Given the description of an element on the screen output the (x, y) to click on. 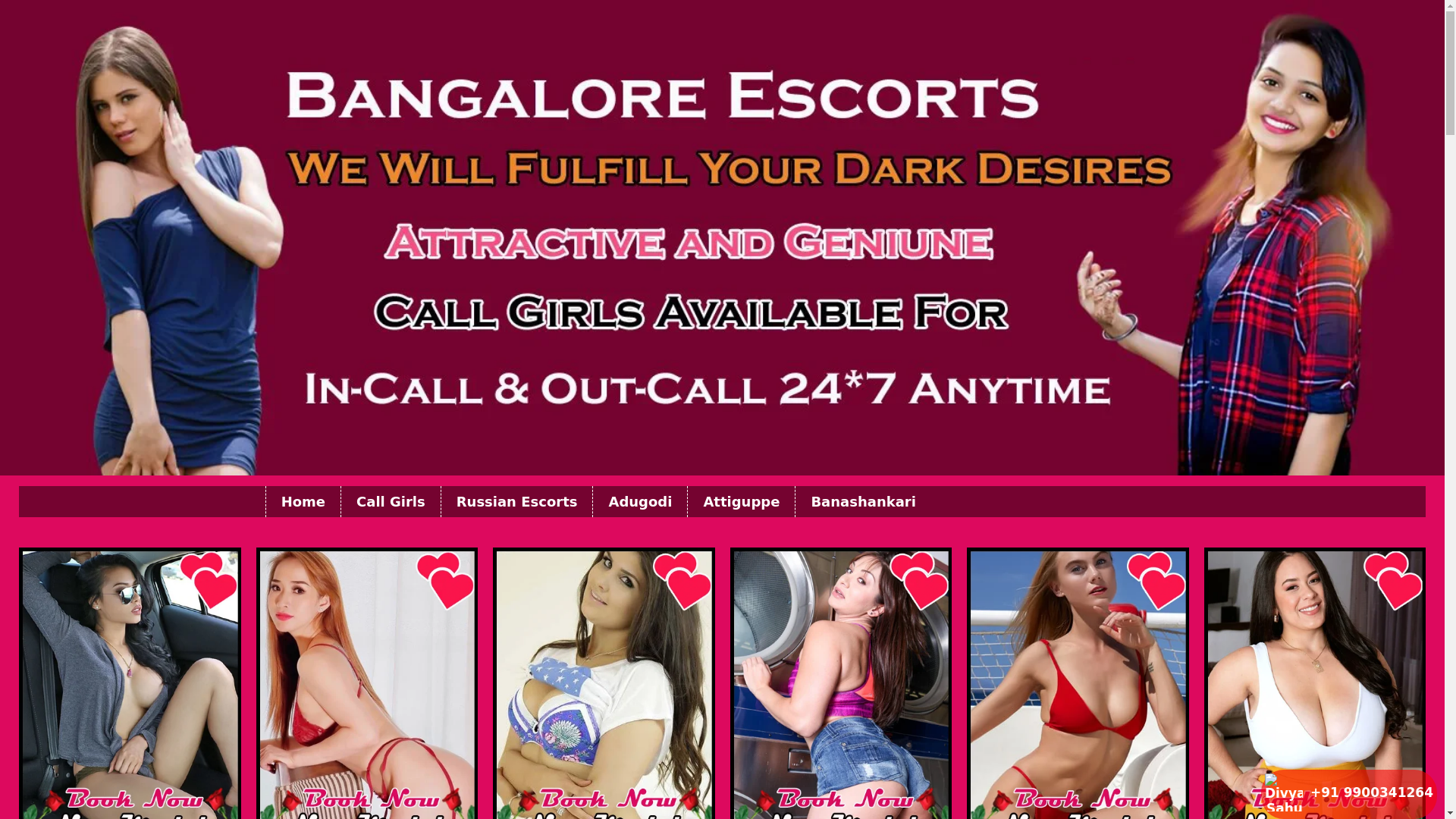
Attiguppe (740, 501)
Russian Escorts (516, 501)
Adugodi (639, 501)
Banashankari (862, 501)
Call Girls (390, 501)
Home (302, 501)
